Given the description of an element on the screen output the (x, y) to click on. 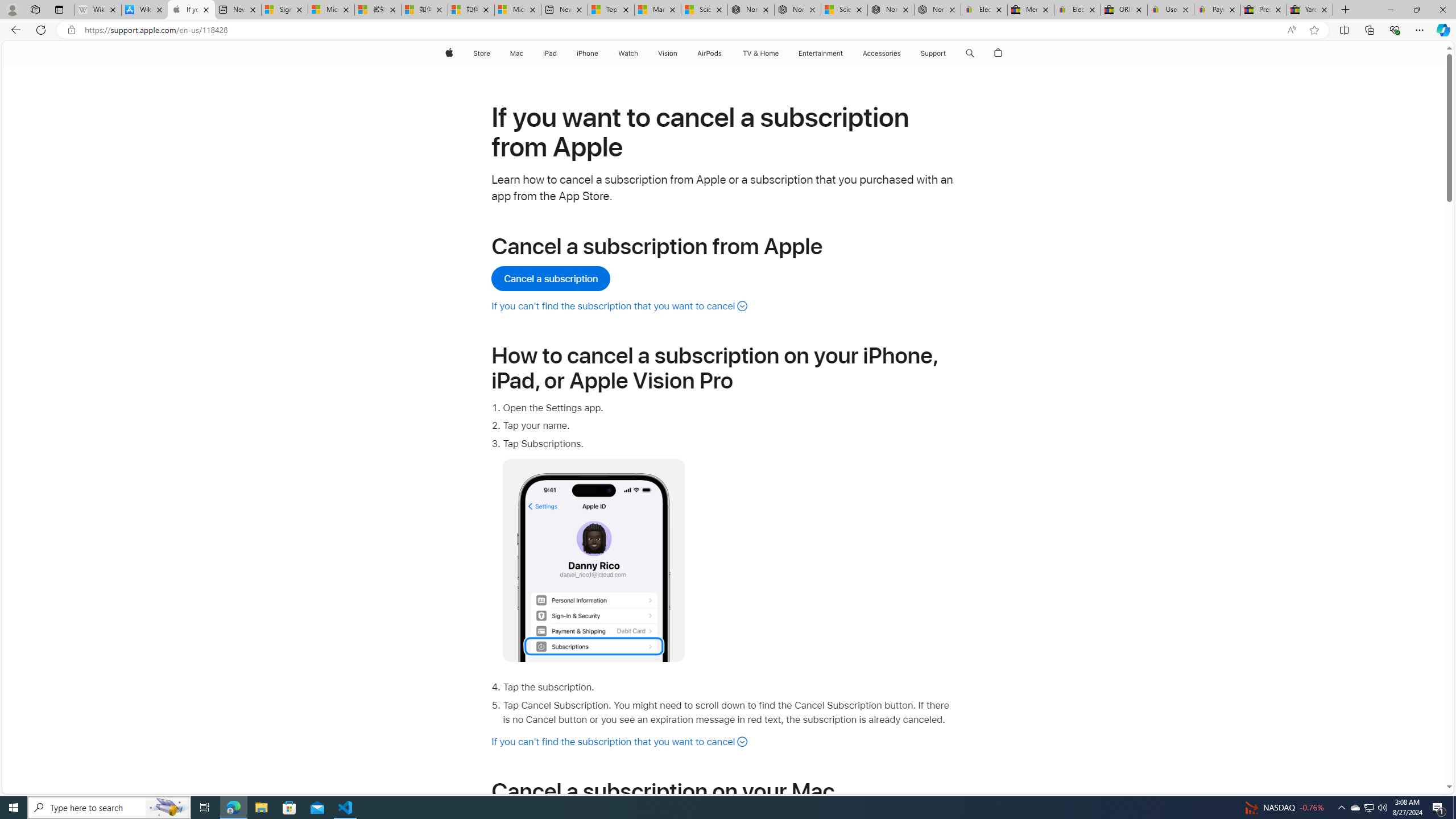
Open the Settings app. (729, 407)
Store (481, 53)
Mac (516, 53)
Support menu (948, 53)
Store (481, 53)
iPhone (587, 53)
